Given the description of an element on the screen output the (x, y) to click on. 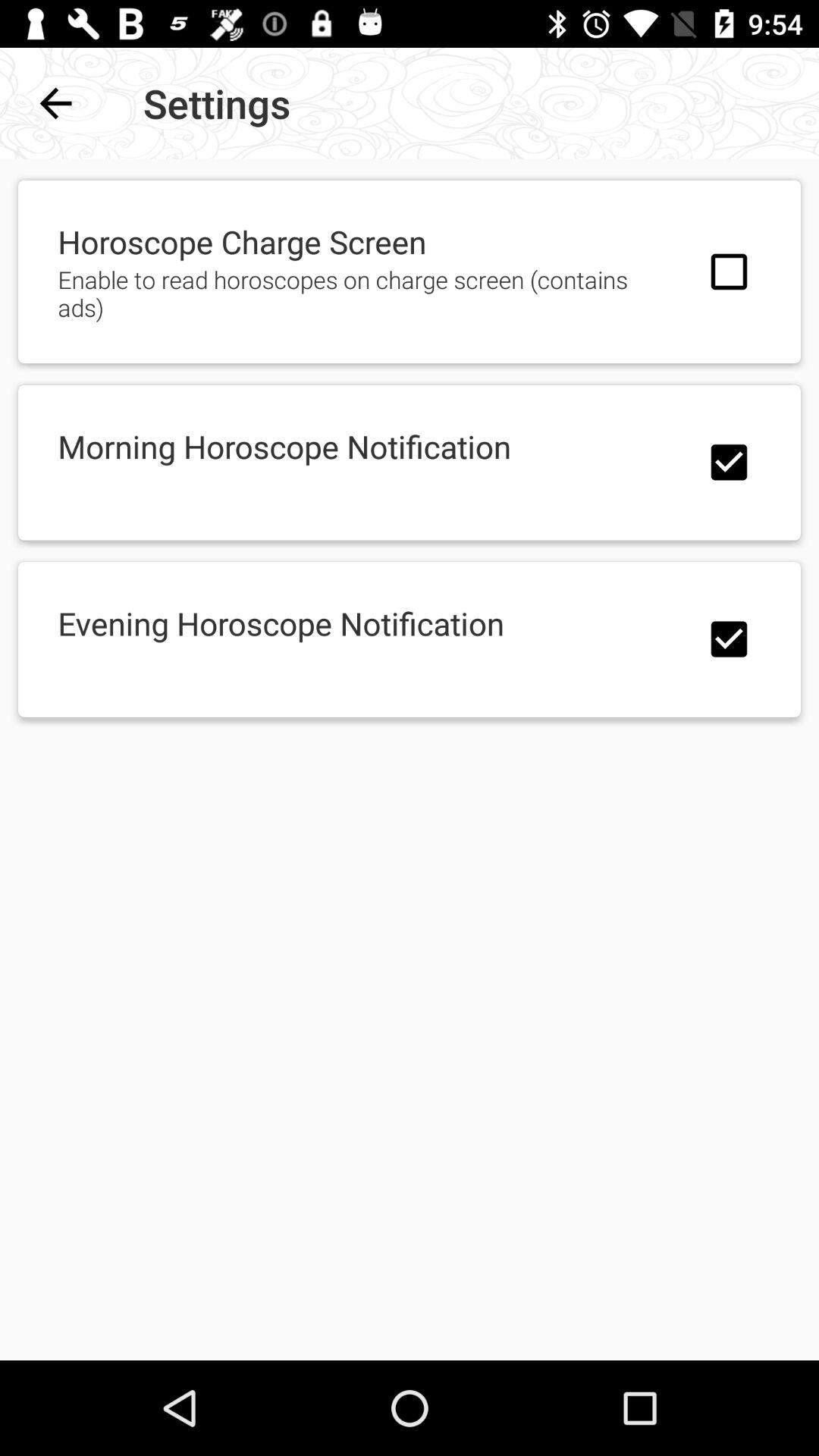
choose item next to the settings item (55, 103)
